Given the description of an element on the screen output the (x, y) to click on. 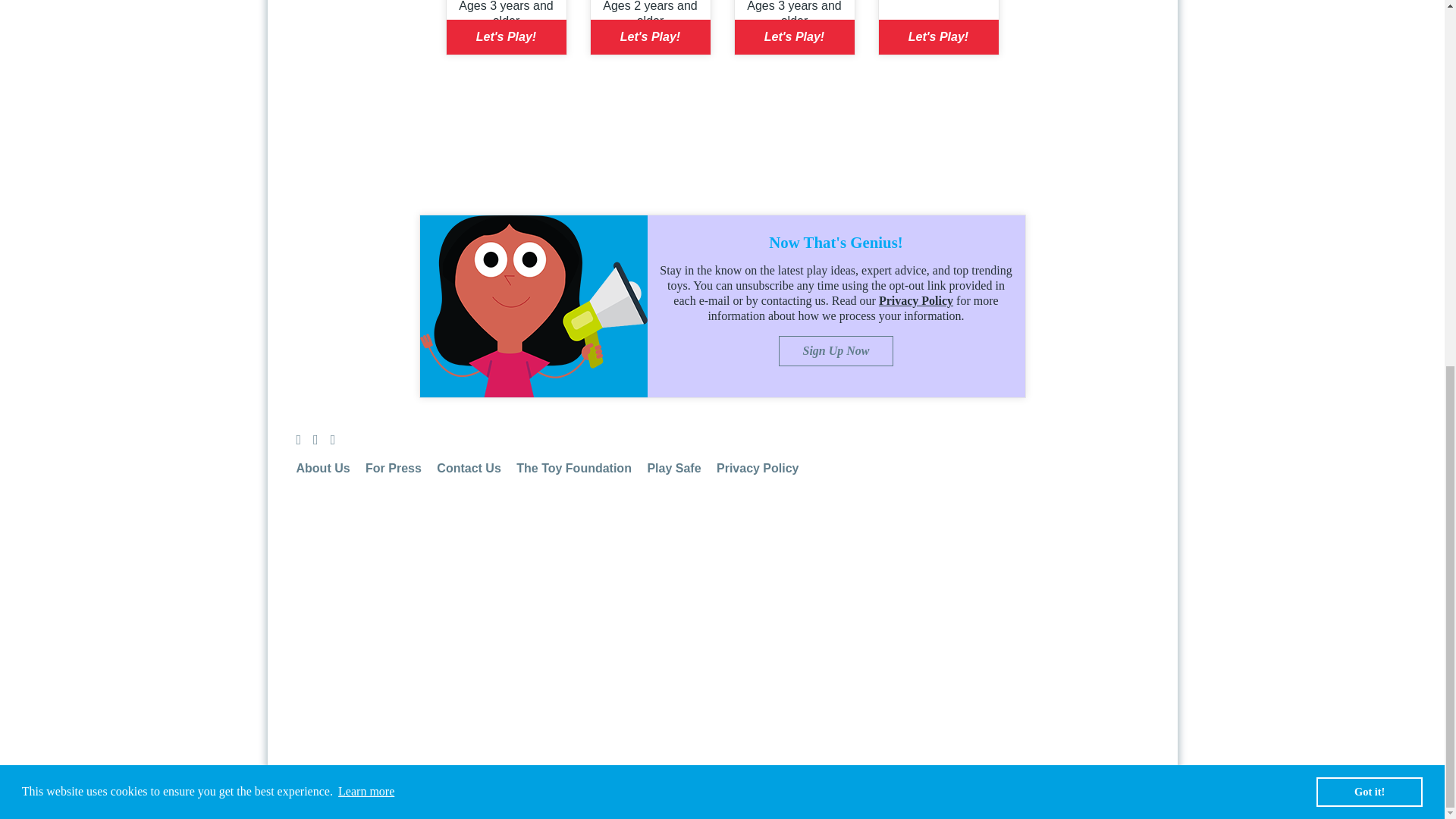
Got it! (1369, 132)
Learn more (366, 132)
Let's Play! (505, 36)
